Given the description of an element on the screen output the (x, y) to click on. 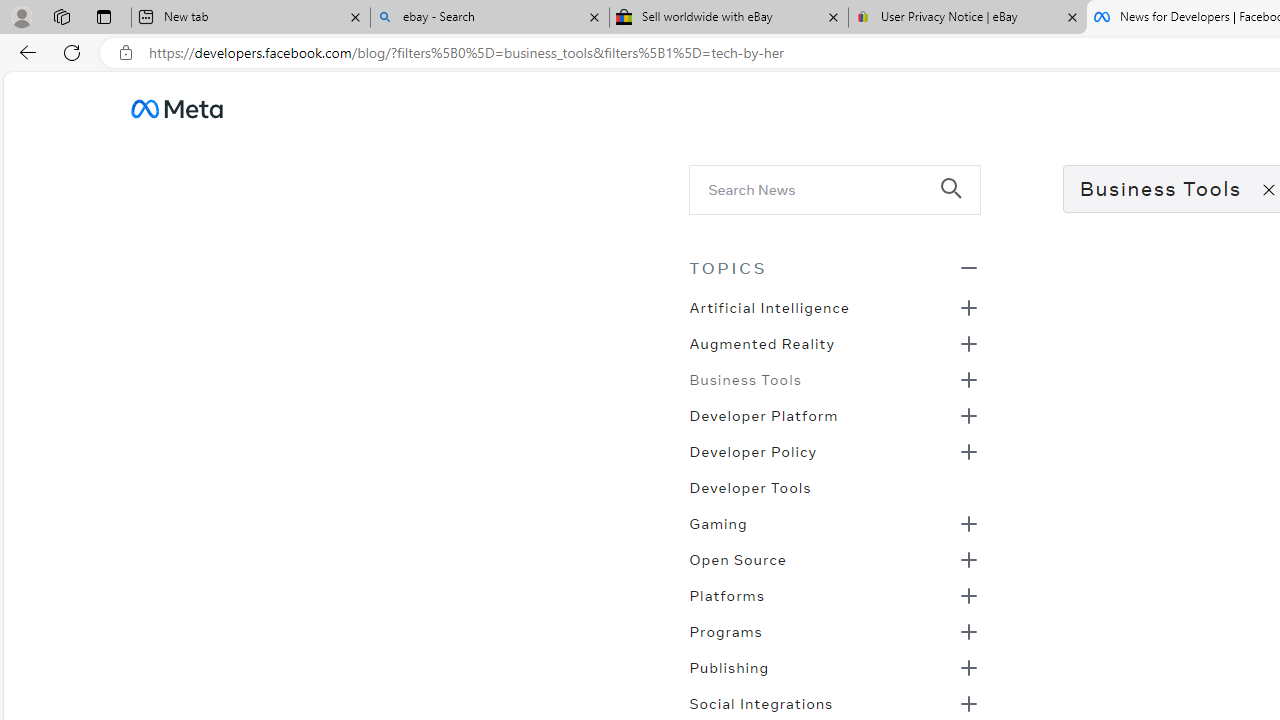
Gaming (717, 521)
Developer Platform (763, 413)
Developer Tools (749, 485)
Artificial Intelligence (768, 305)
Class: _98ex (834, 493)
Publishing (729, 665)
Class: _98ex _98ez (834, 673)
Platforms (726, 593)
Social Integrations (761, 701)
